Given the description of an element on the screen output the (x, y) to click on. 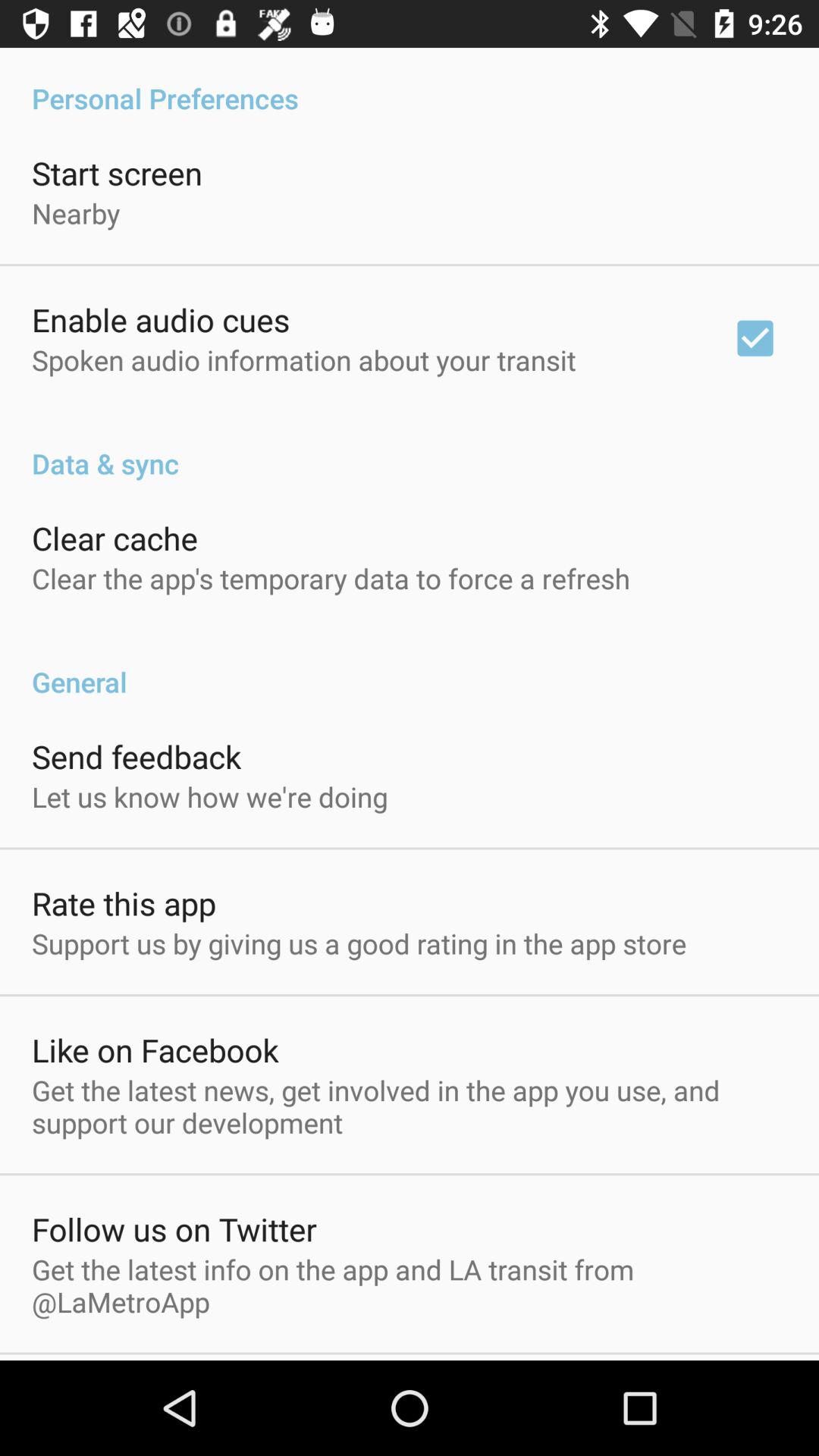
launch send feedback icon (136, 756)
